Given the description of an element on the screen output the (x, y) to click on. 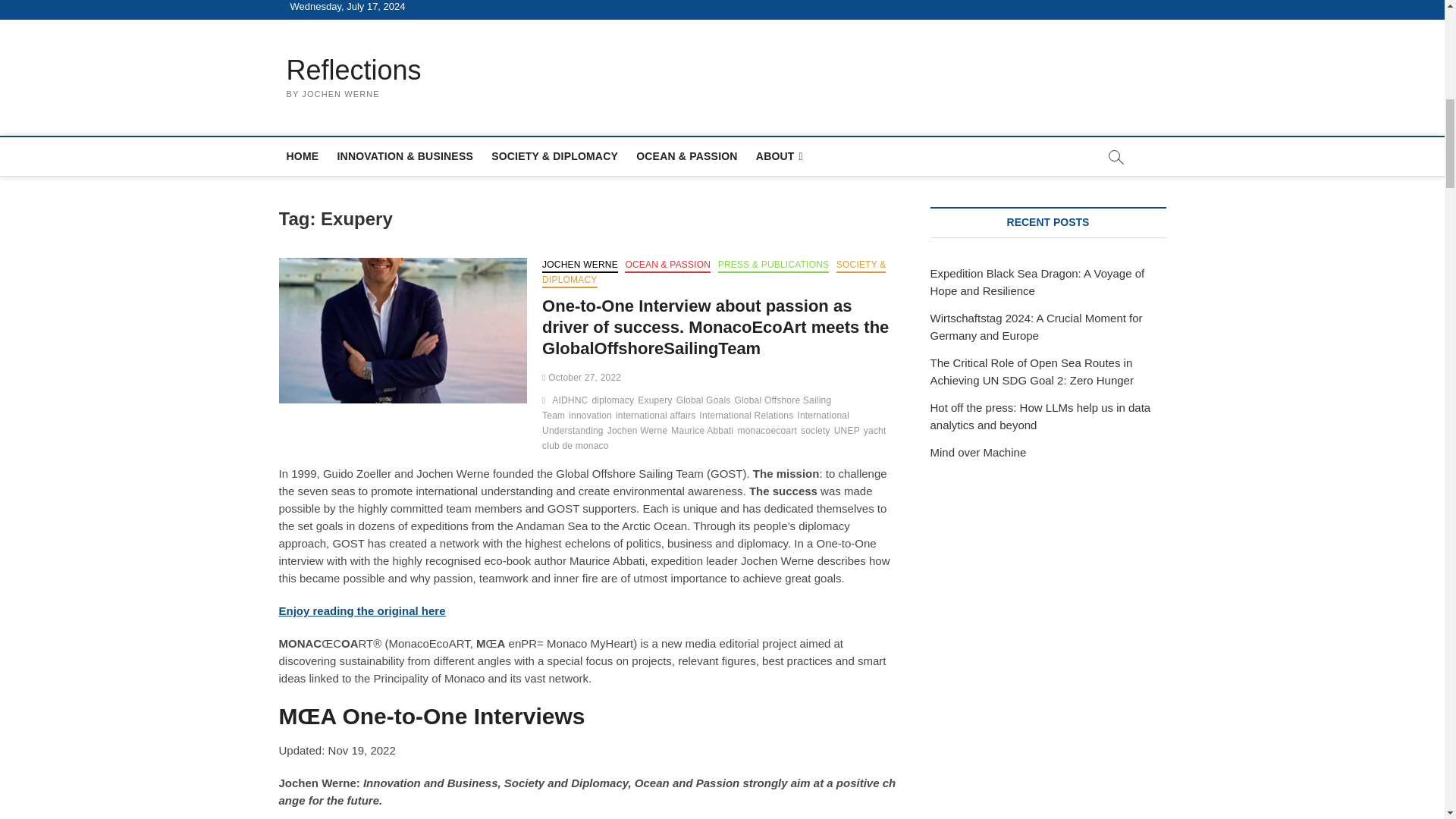
Global Goals (706, 401)
Reflections (354, 70)
ABOUT (779, 156)
JOCHEN WERNE (579, 265)
Global Offshore Sailing Team (686, 409)
October 27, 2022 (581, 377)
Exupery (656, 401)
Reflections (354, 70)
October 27, 2022 (581, 377)
AIDHNC (571, 401)
diplomacy (614, 401)
HOME (302, 156)
